Given the description of an element on the screen output the (x, y) to click on. 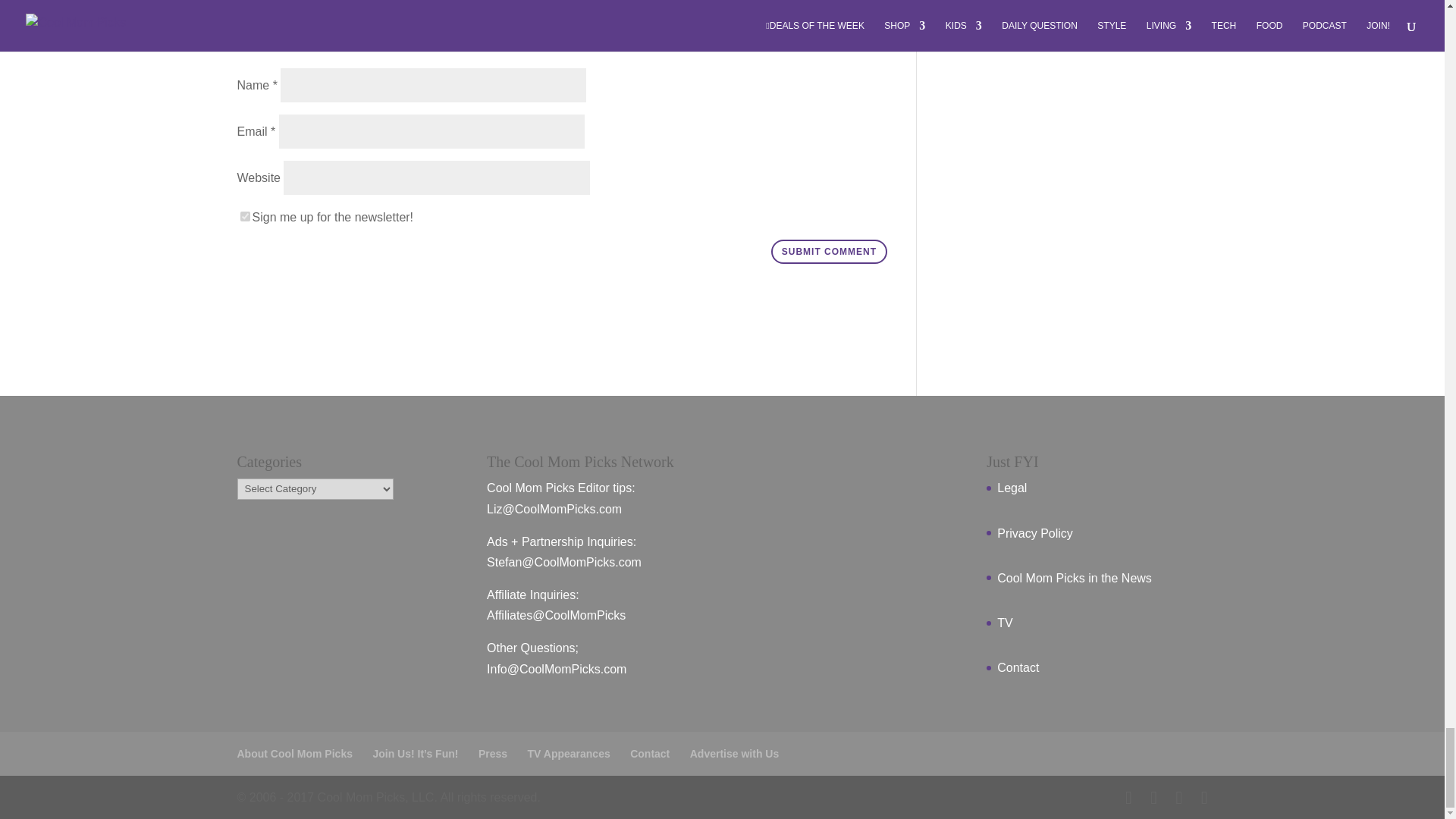
Submit Comment (828, 251)
1 (244, 216)
